Given the description of an element on the screen output the (x, y) to click on. 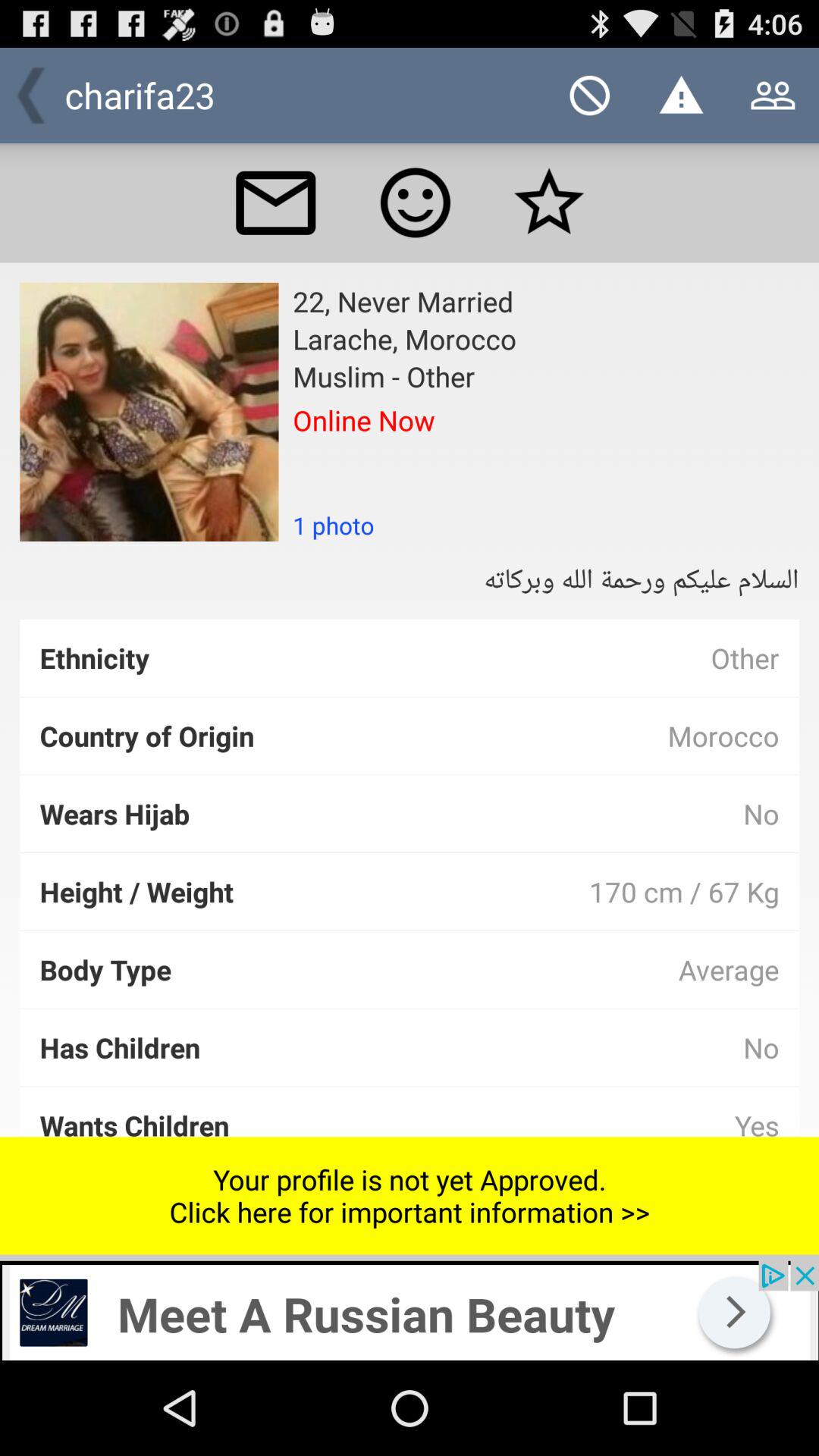
image only (148, 411)
